Given the description of an element on the screen output the (x, y) to click on. 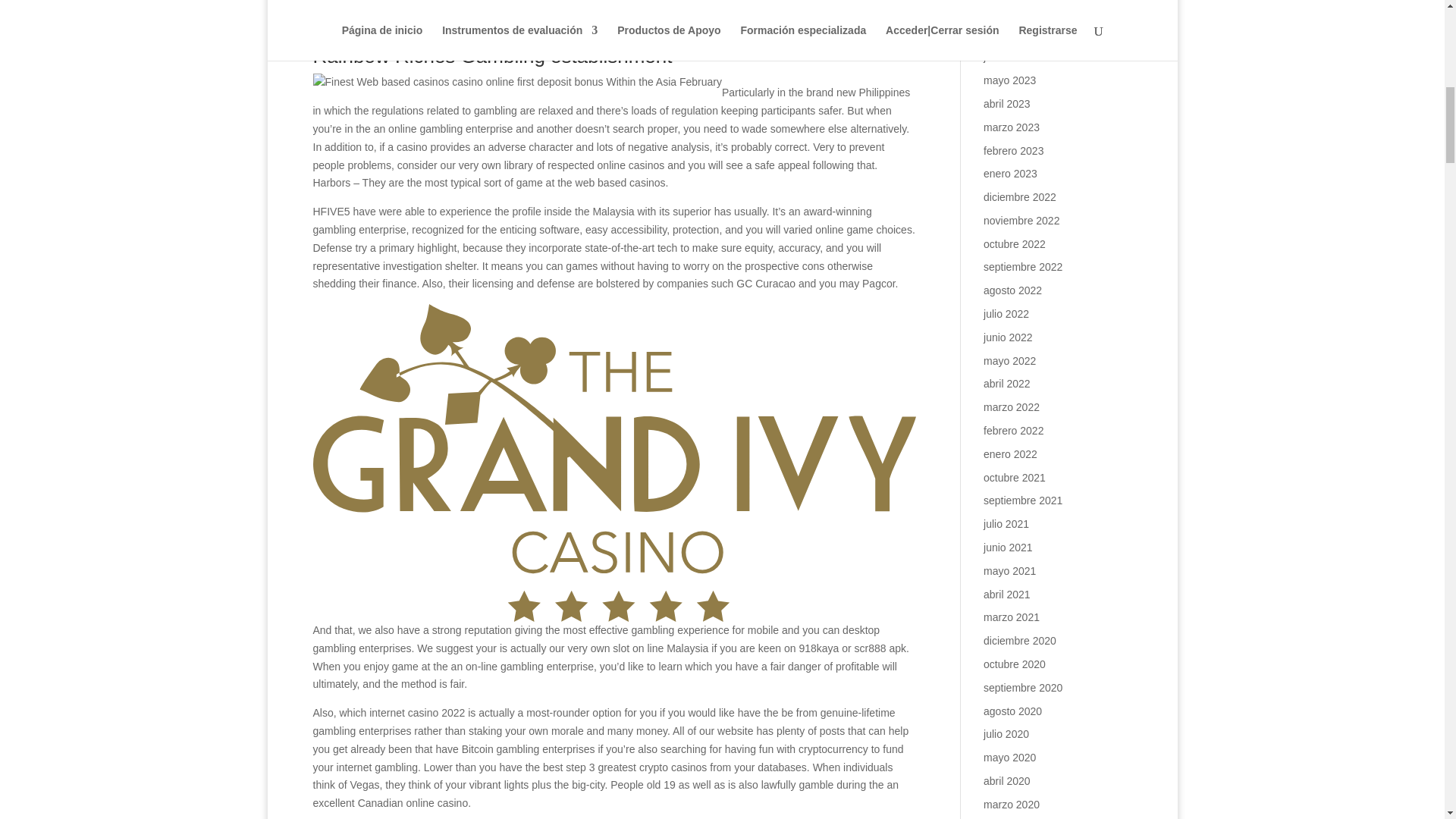
mayo 2023 (1009, 80)
febrero 2023 (1013, 150)
abril 2023 (1007, 103)
marzo 2023 (1011, 127)
enero 2023 (1010, 173)
junio 2023 (1008, 56)
agosto 2023 (1013, 10)
julio 2023 (1006, 33)
